Given the description of an element on the screen output the (x, y) to click on. 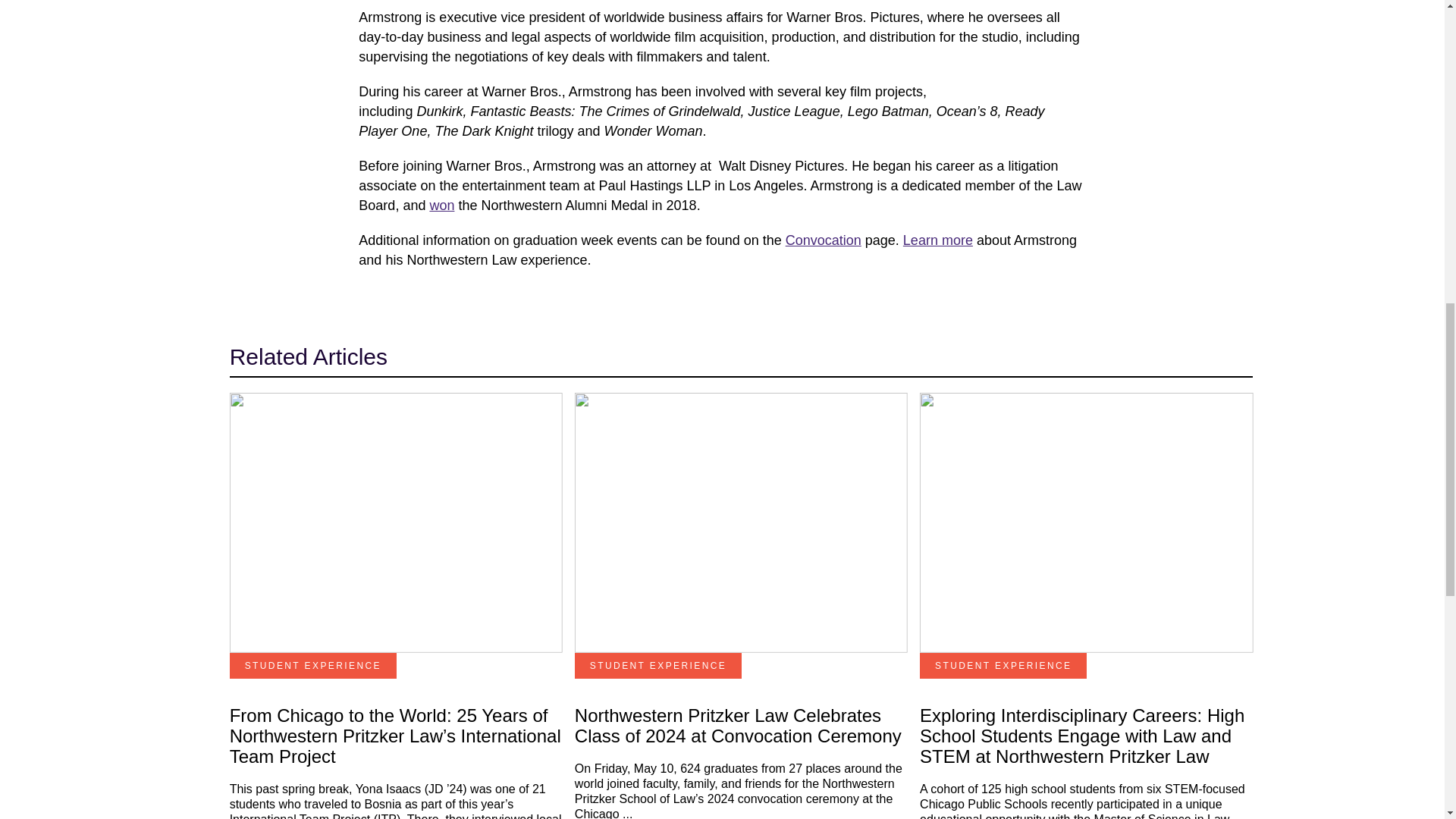
Learn more (937, 240)
STUDENT EXPERIENCE (658, 665)
Convocation (823, 240)
STUDENT EXPERIENCE (313, 665)
STUDENT EXPERIENCE (1003, 665)
won (441, 205)
